Given the description of an element on the screen output the (x, y) to click on. 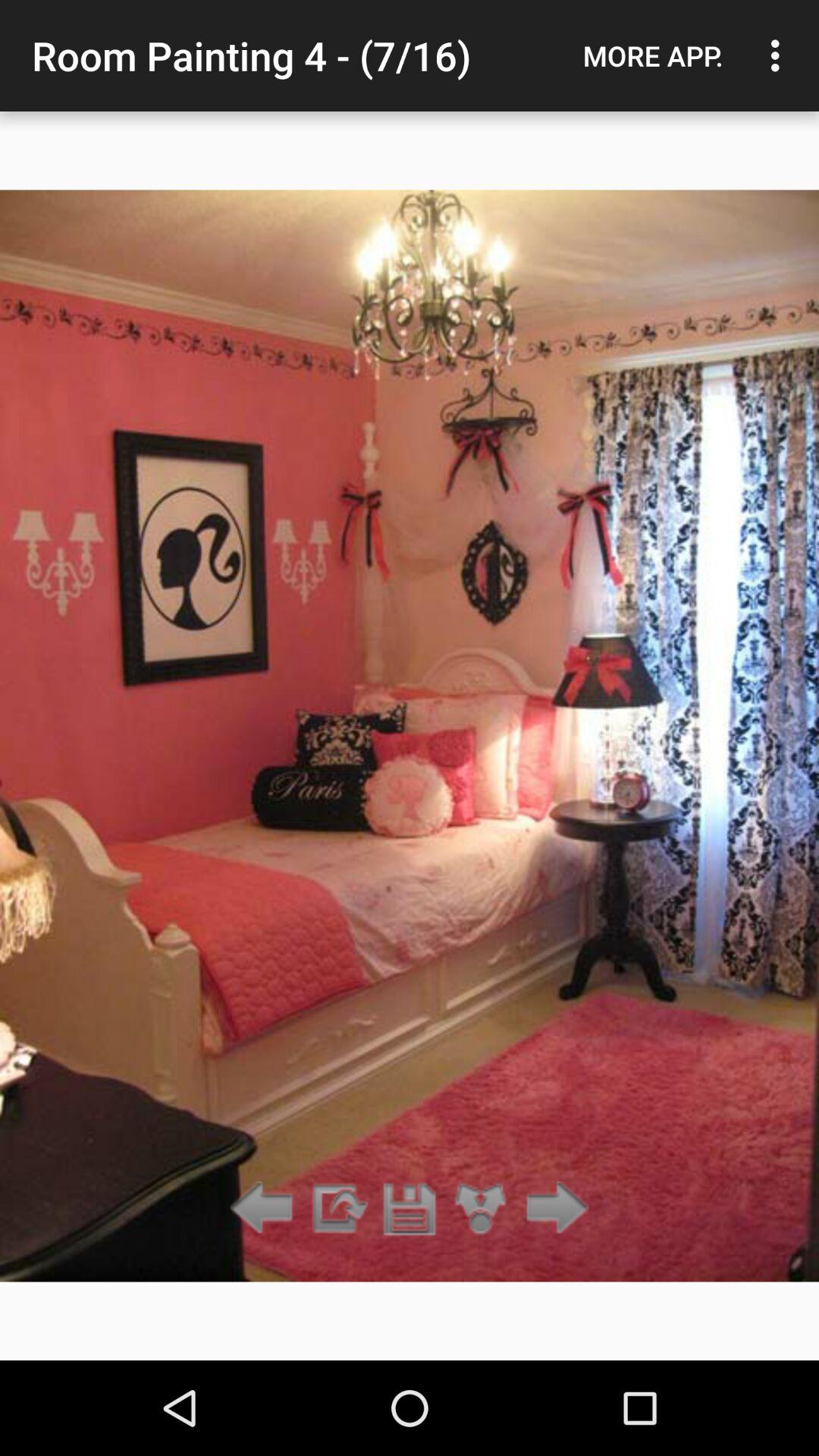
the icon denotes to save the information from current page (409, 1208)
